Given the description of an element on the screen output the (x, y) to click on. 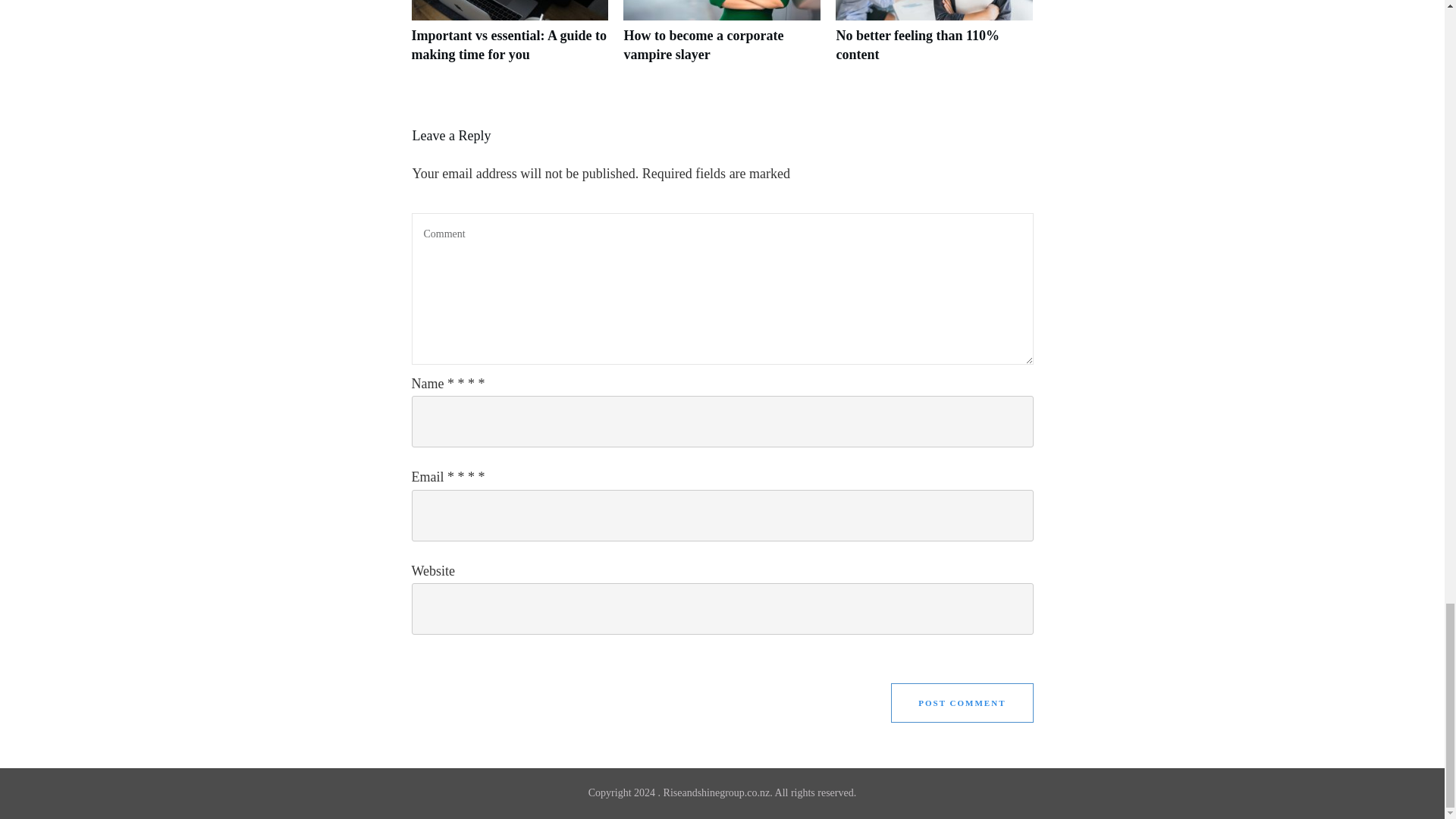
How to become a corporate vampire slayer (703, 44)
Important vs essential: A guide to making time for you (508, 44)
POST COMMENT (961, 702)
How to become a corporate vampire slayer (703, 44)
Important vs essential: A guide to making time for you (509, 39)
Important vs essential: A guide to making time for you (508, 44)
How to become a corporate vampire slayer (722, 39)
